Given the description of an element on the screen output the (x, y) to click on. 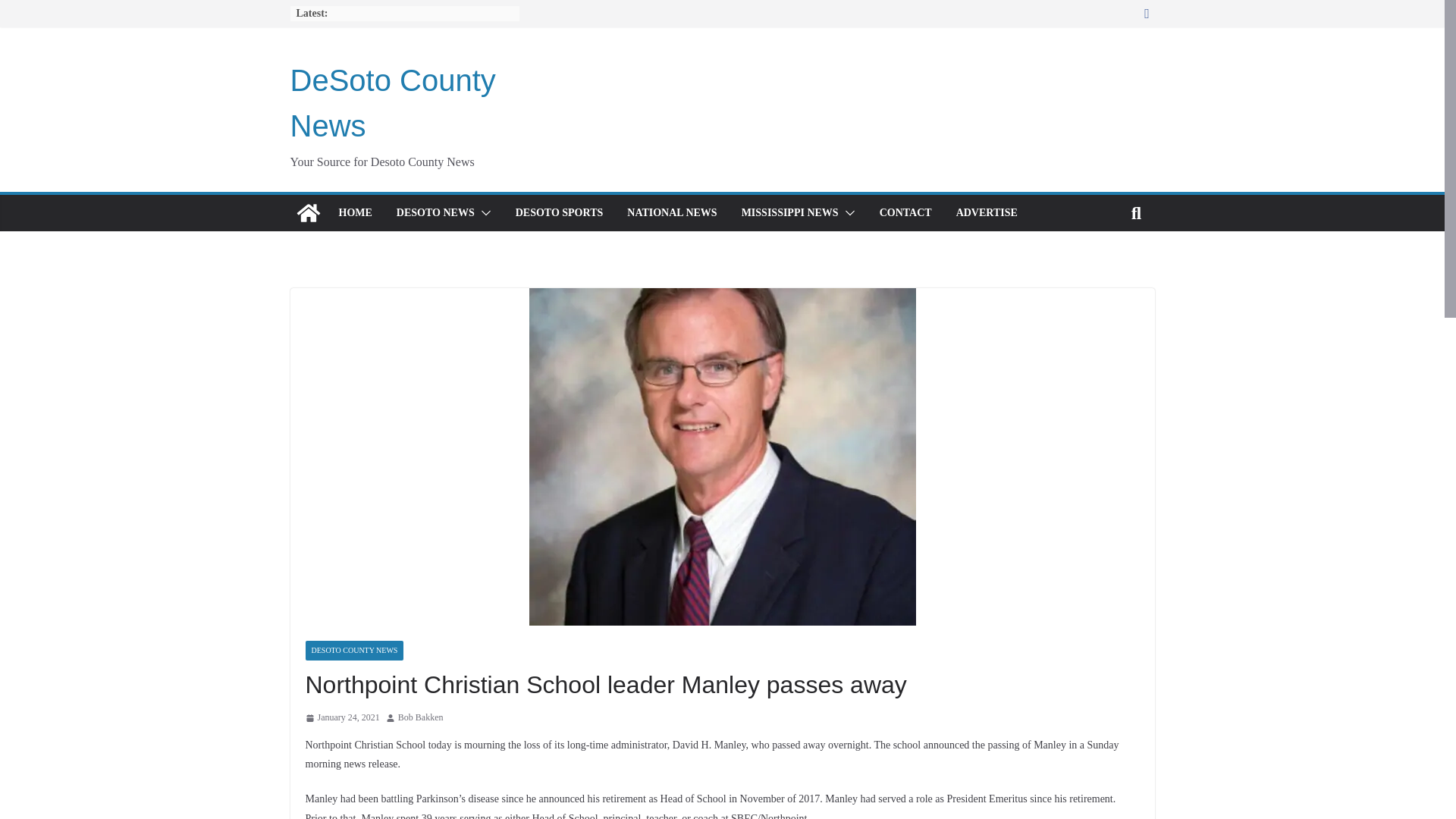
DeSoto County News (307, 212)
DeSoto County News (392, 102)
DESOTO COUNTY NEWS (353, 650)
DeSoto County News (392, 102)
HOME (354, 212)
CONTACT (905, 212)
MISSISSIPPI NEWS (789, 212)
NATIONAL NEWS (671, 212)
9:40 am (341, 718)
DESOTO SPORTS (559, 212)
